Given the description of an element on the screen output the (x, y) to click on. 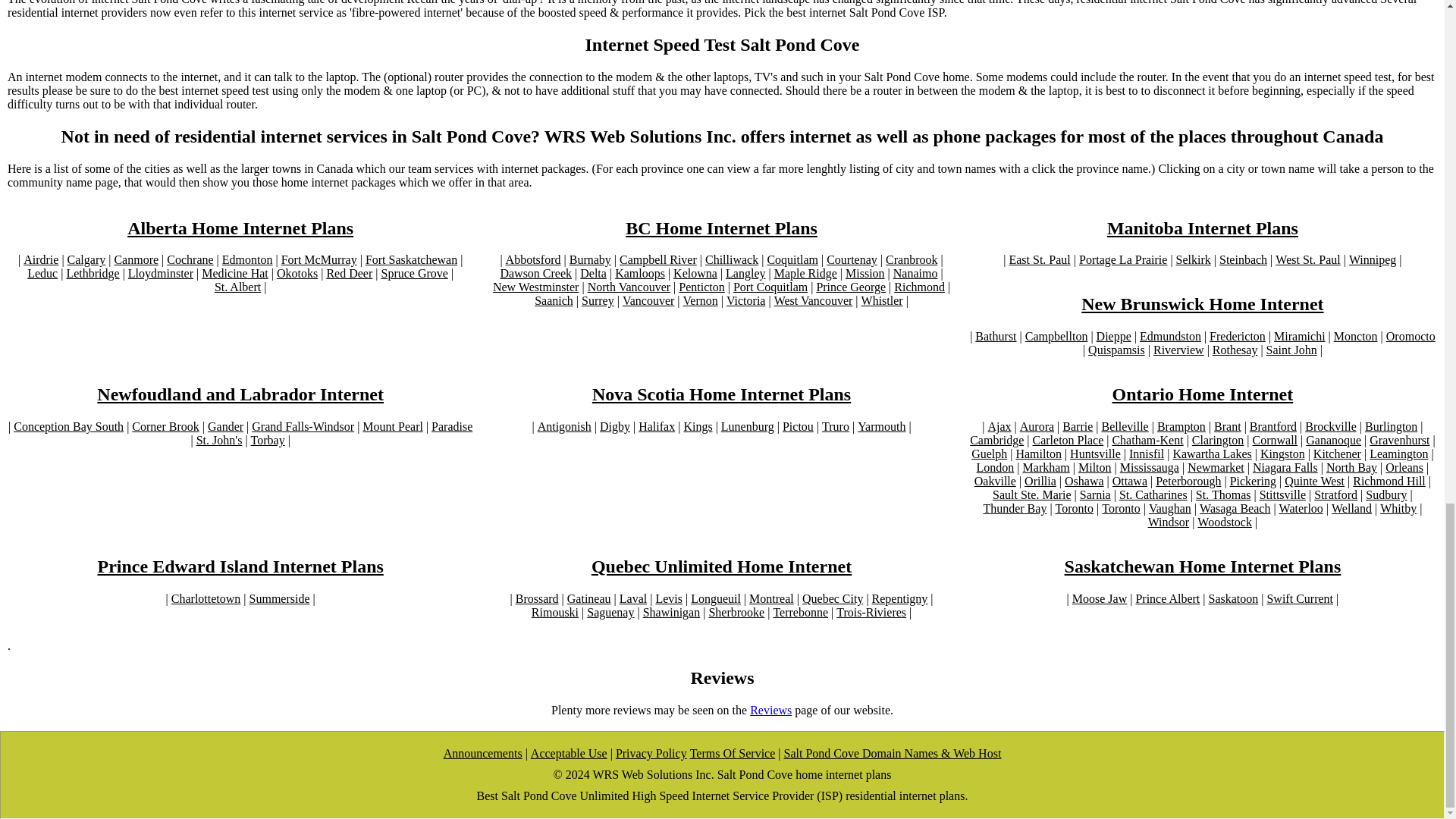
Edmonton (247, 259)
Spruce Grove (413, 273)
Coquitlam (792, 259)
Red Deer (349, 273)
Fort Saskatchewan (411, 259)
Lloydminster (160, 273)
Burnaby (590, 259)
Fort McMurray (318, 259)
Alberta Home Internet Plans (240, 228)
Leduc (42, 273)
